Given the description of an element on the screen output the (x, y) to click on. 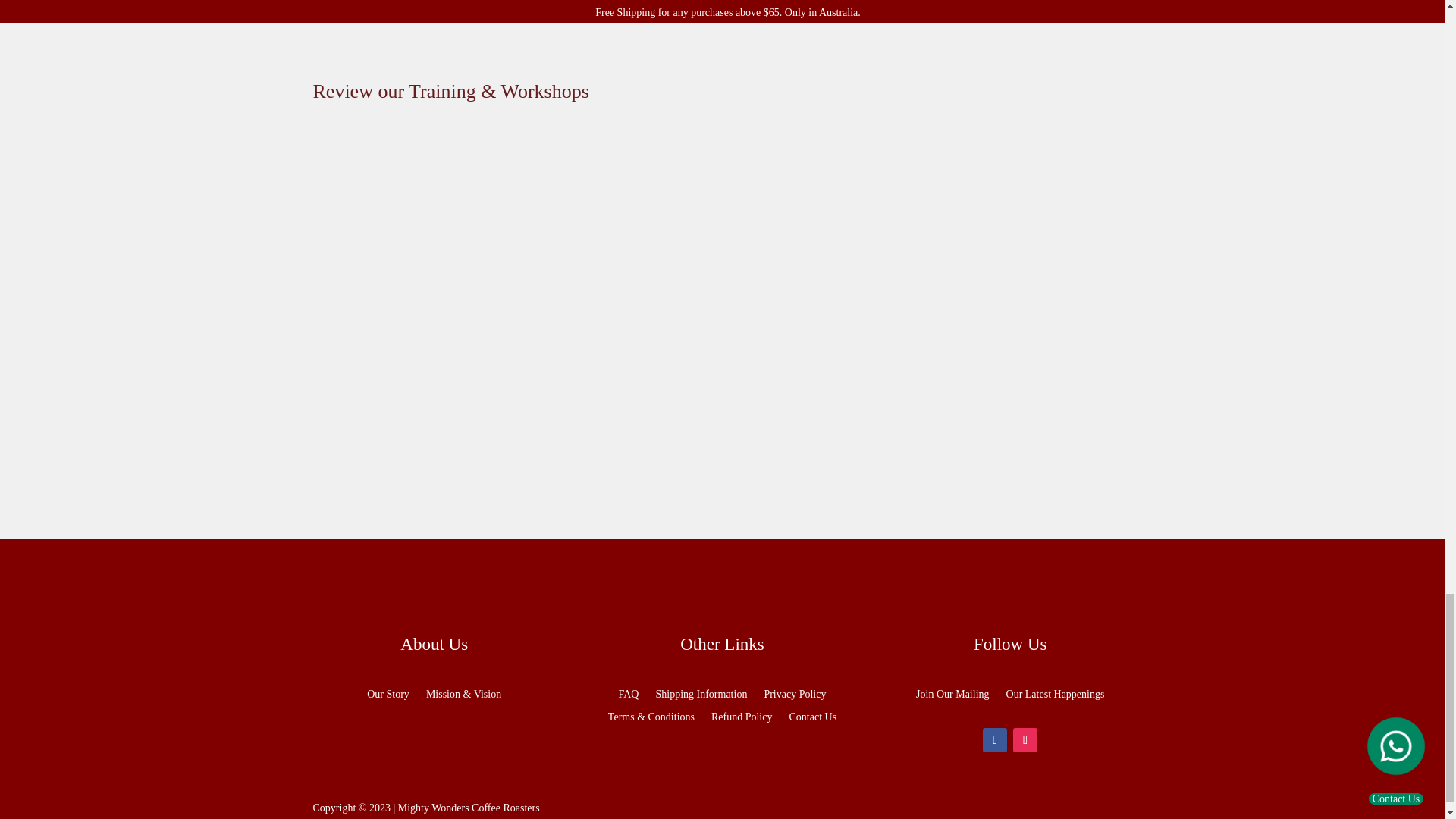
Follow on Facebook (994, 740)
Follow on Instagram (1024, 740)
